Given the description of an element on the screen output the (x, y) to click on. 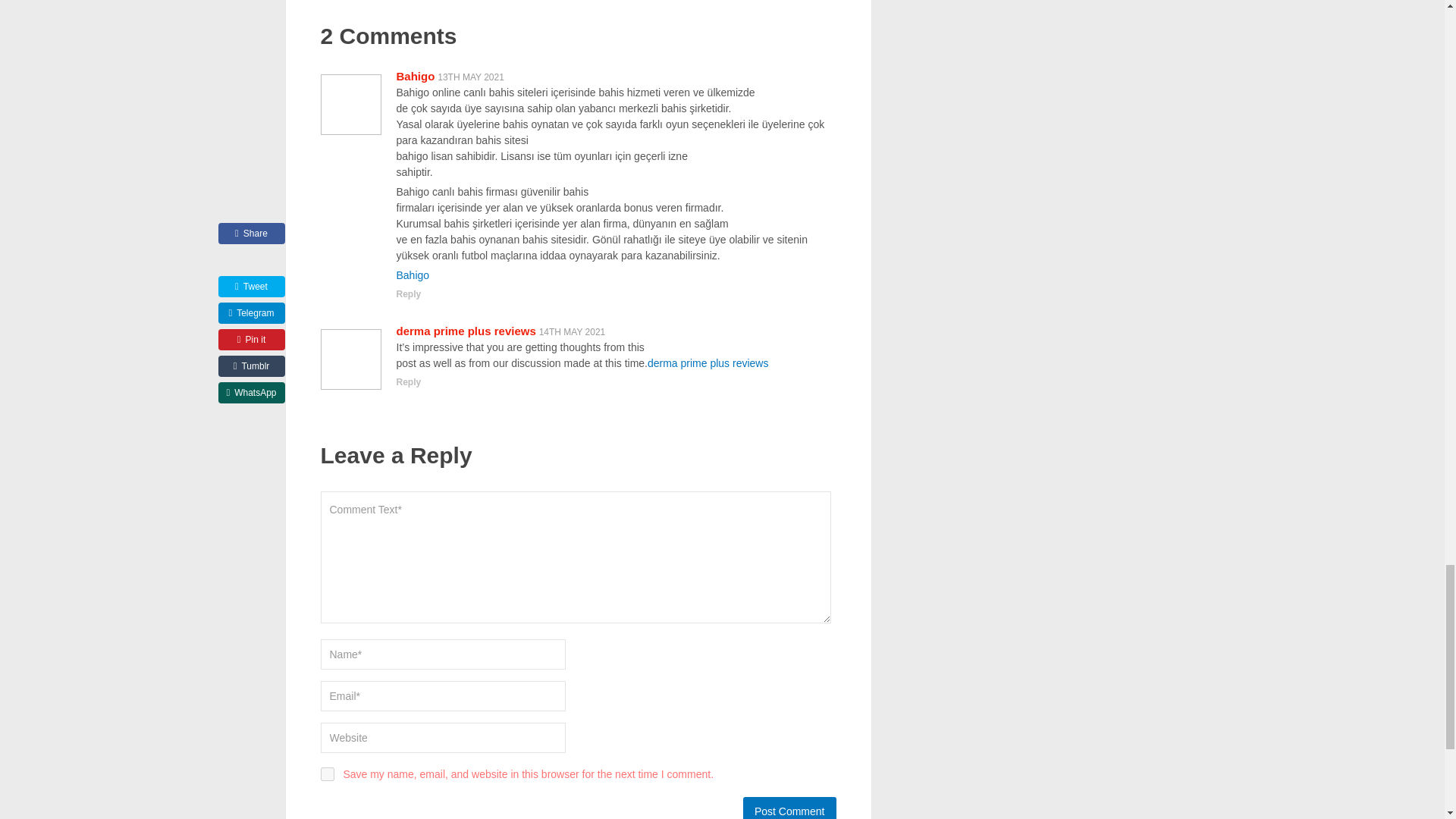
Post Comment (788, 807)
yes (326, 774)
